Given the description of an element on the screen output the (x, y) to click on. 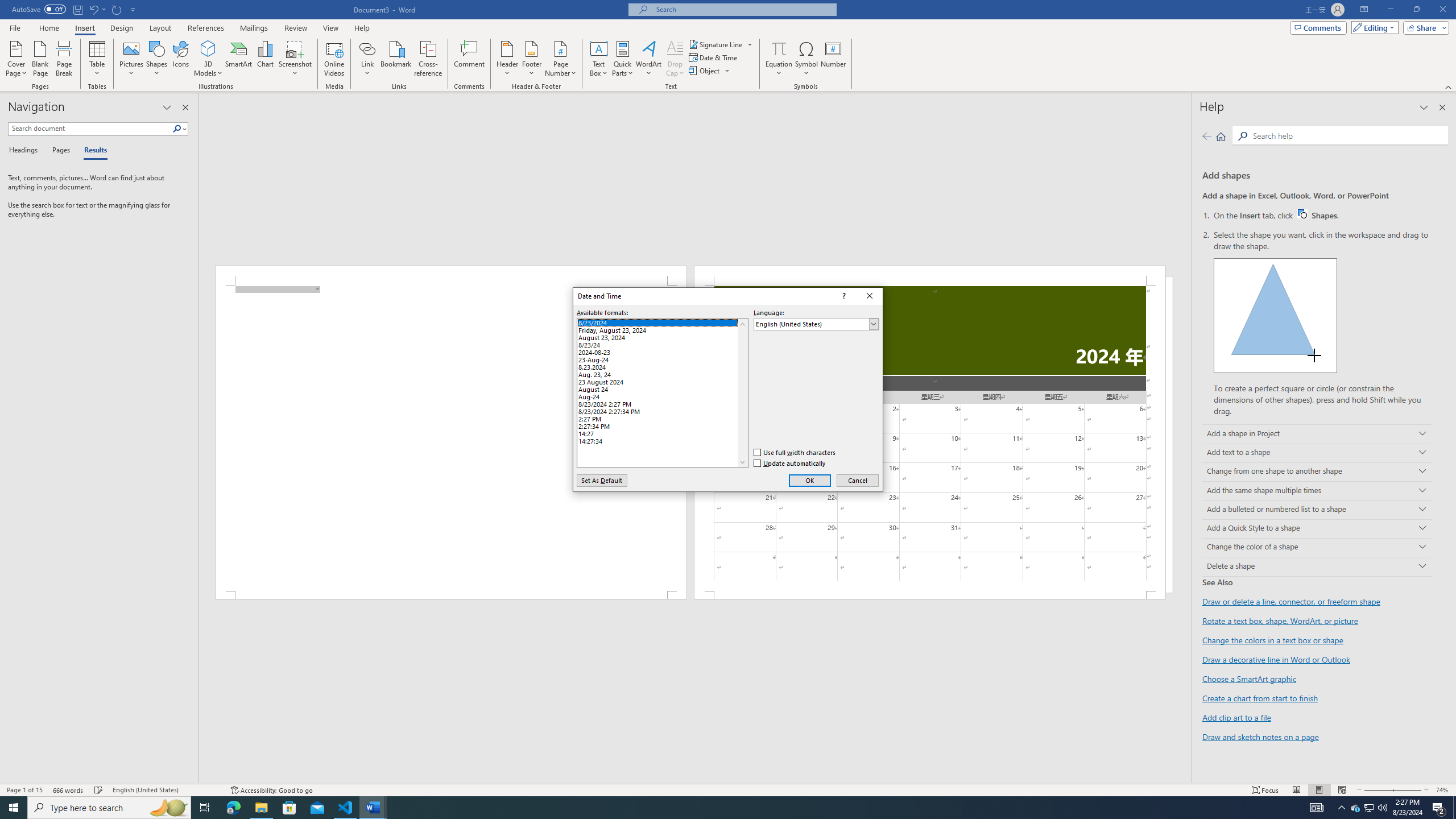
Add a bulleted or numbered list to a shape (1316, 510)
Quick Parts (1322, 214)
Cross-reference... (622, 58)
Action Center, 2 new notifications (428, 58)
Change from one shape to another shape (1439, 807)
2024-08-23 (1316, 471)
Page Number (662, 350)
Equation (560, 58)
Change the colors in a text box or shape (778, 58)
